Given the description of an element on the screen output the (x, y) to click on. 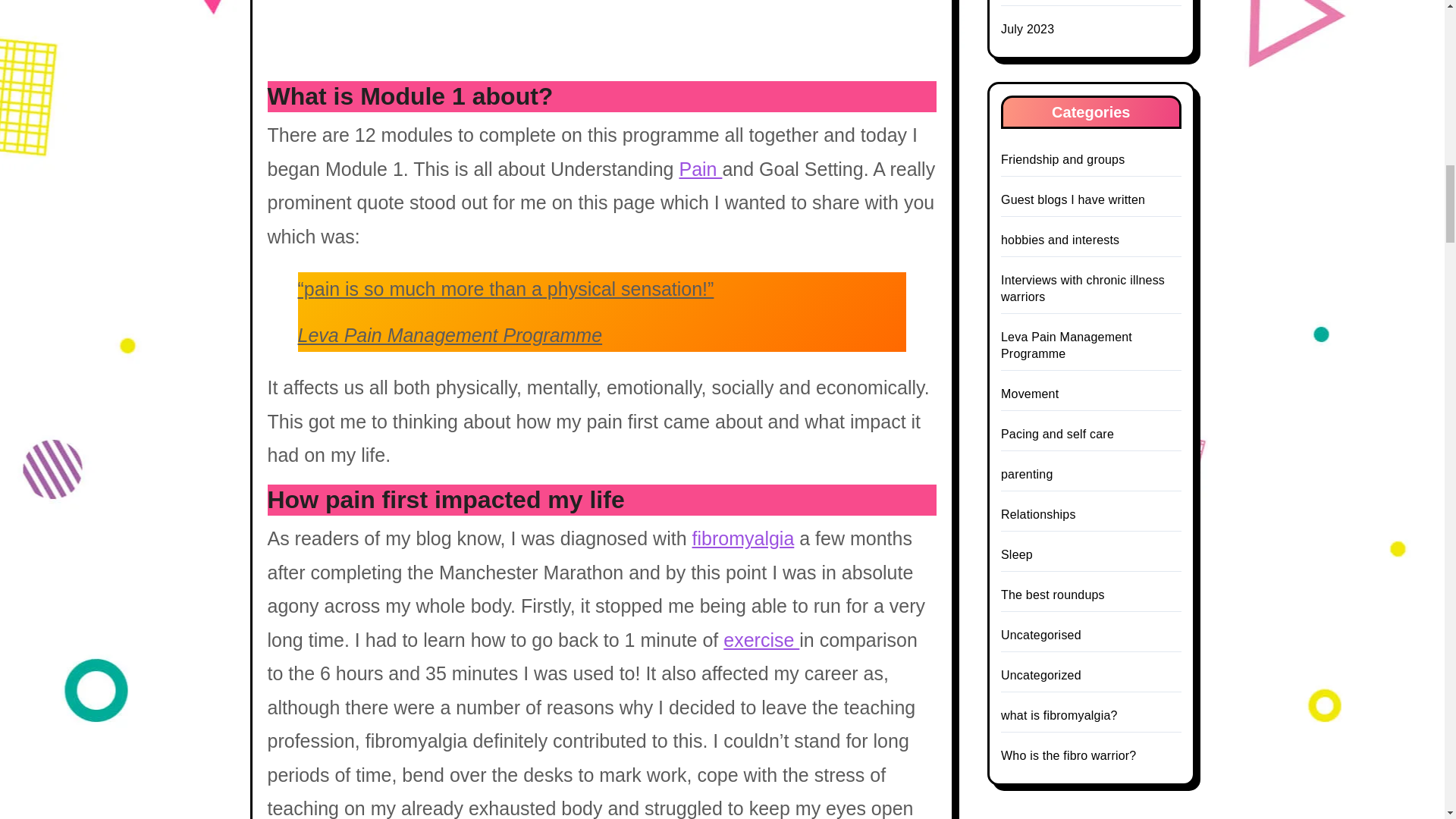
exercise (761, 639)
fibromyalgia (743, 537)
Newly Diagnosed With Fibromyalgia: What Now? (743, 537)
Pain (700, 168)
Can stretching help with chronic pain? (761, 639)
